Given the description of an element on the screen output the (x, y) to click on. 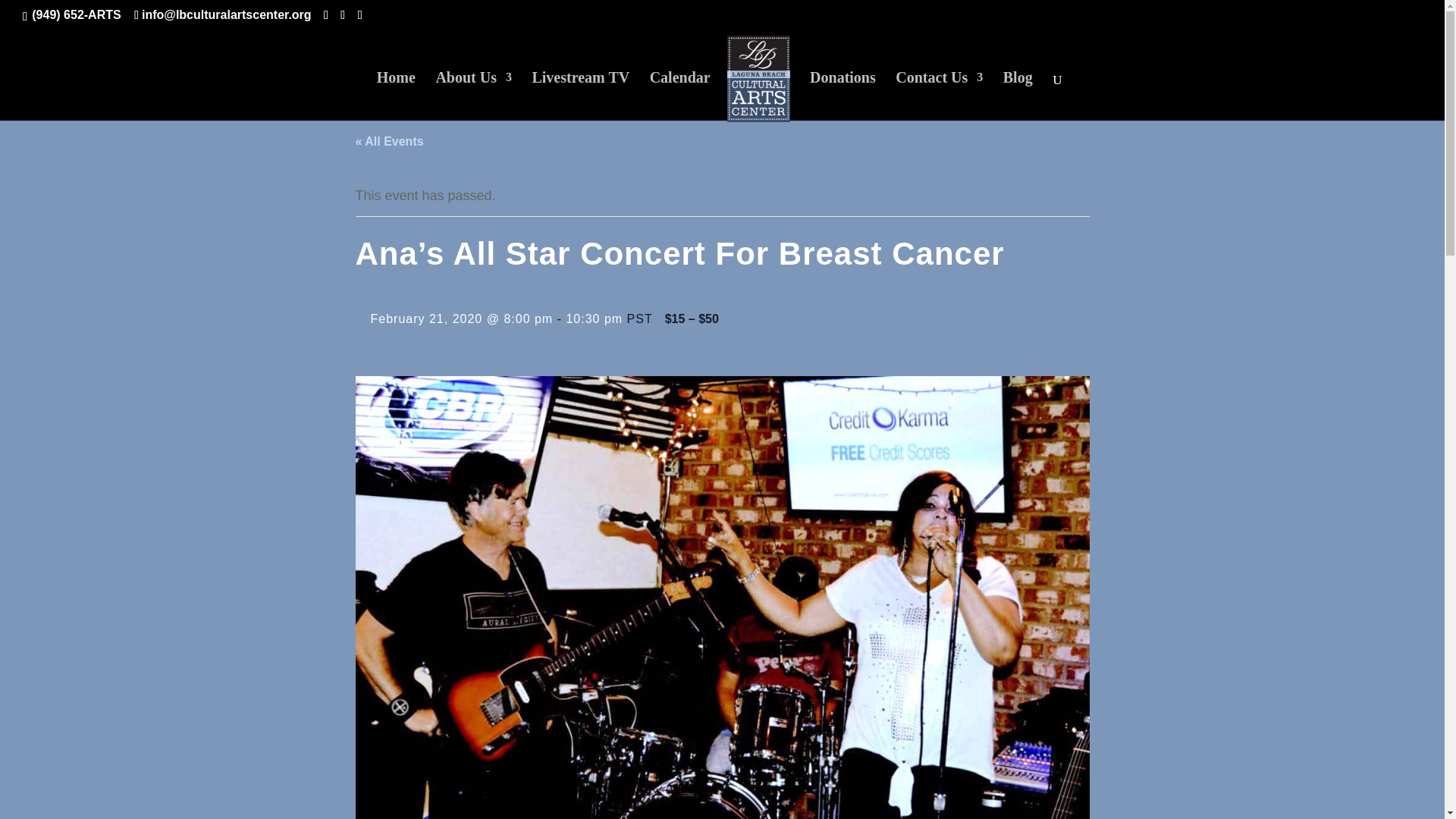
Donations (842, 96)
About Us (473, 96)
Contact Us (938, 96)
Livestream TV (579, 96)
Calendar (679, 96)
